Given the description of an element on the screen output the (x, y) to click on. 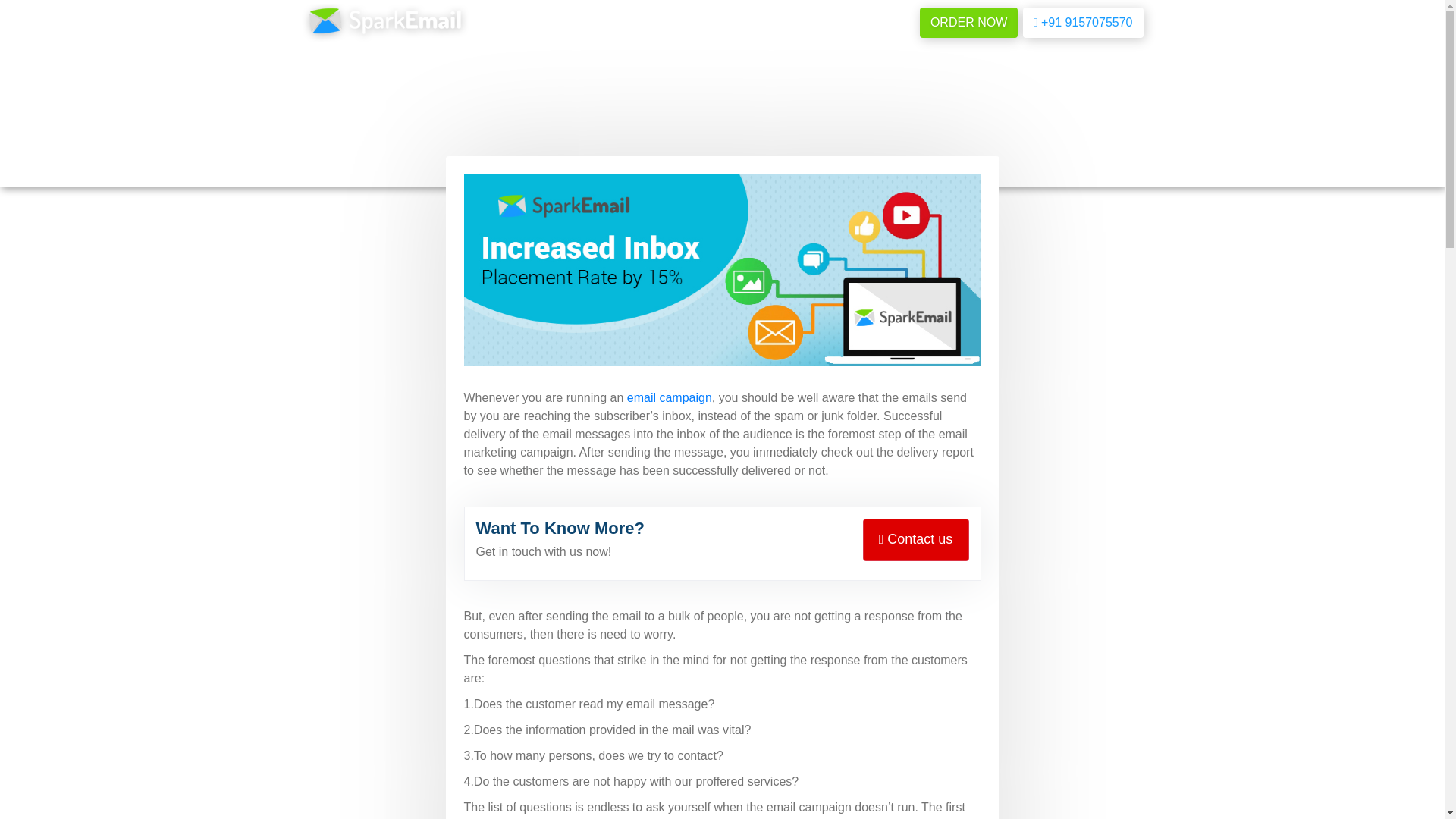
Services (576, 22)
Agencies (818, 22)
ORDER NOW (968, 22)
email campaign (669, 397)
How it works? (673, 22)
Blog (753, 22)
Contact us (916, 539)
Login (887, 22)
